Given the description of an element on the screen output the (x, y) to click on. 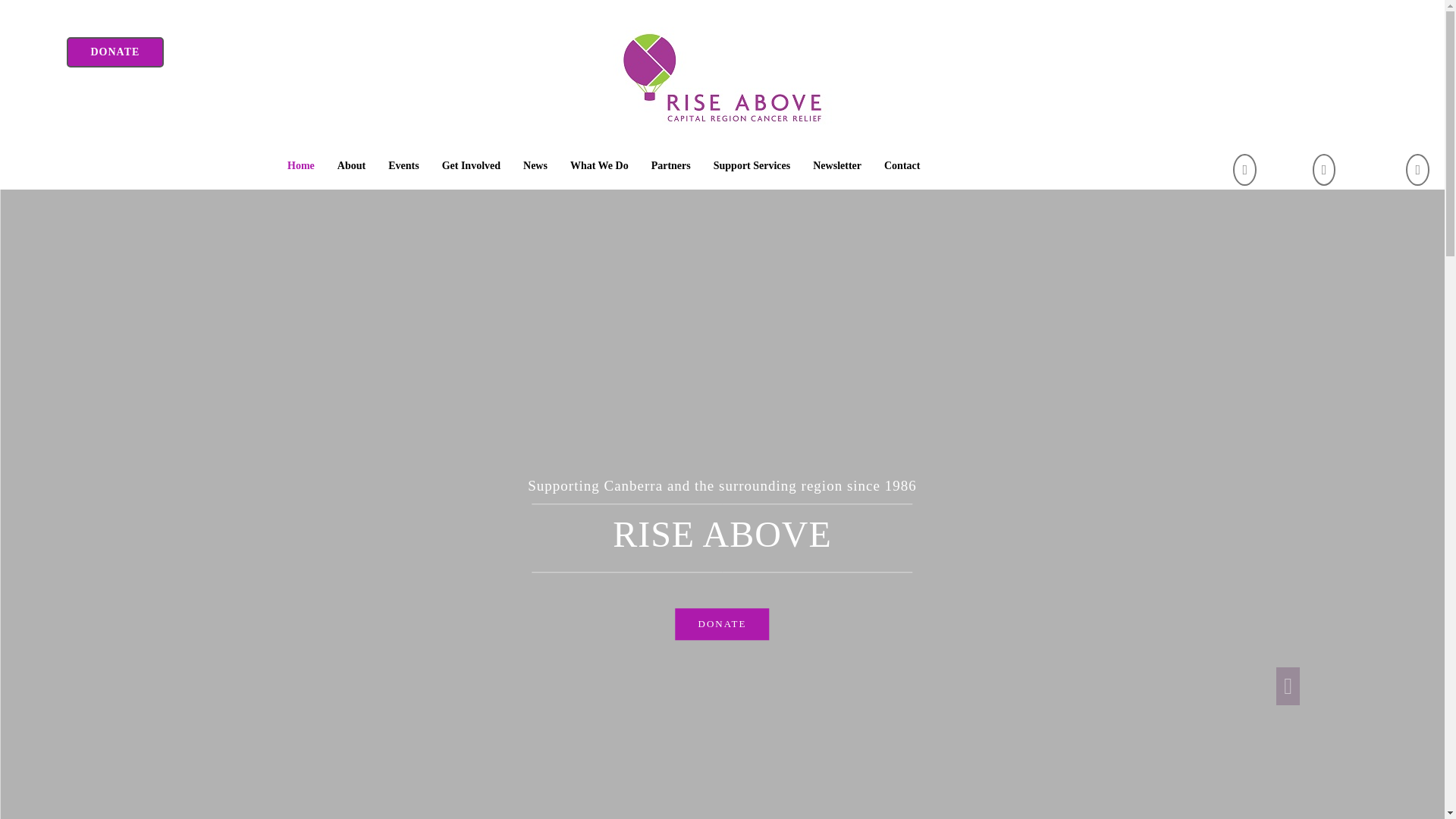
Contact Element type: text (901, 165)
Support Services Element type: text (752, 165)
News Element type: text (534, 165)
Home Element type: text (301, 165)
About Element type: text (351, 165)
Events Element type: text (402, 165)
Newsletter Element type: text (836, 165)
Get Involved Element type: text (470, 165)
DONATE Element type: text (115, 52)
What We Do Element type: text (599, 165)
Partners Element type: text (671, 165)
DONATE Element type: text (721, 624)
